Given the description of an element on the screen output the (x, y) to click on. 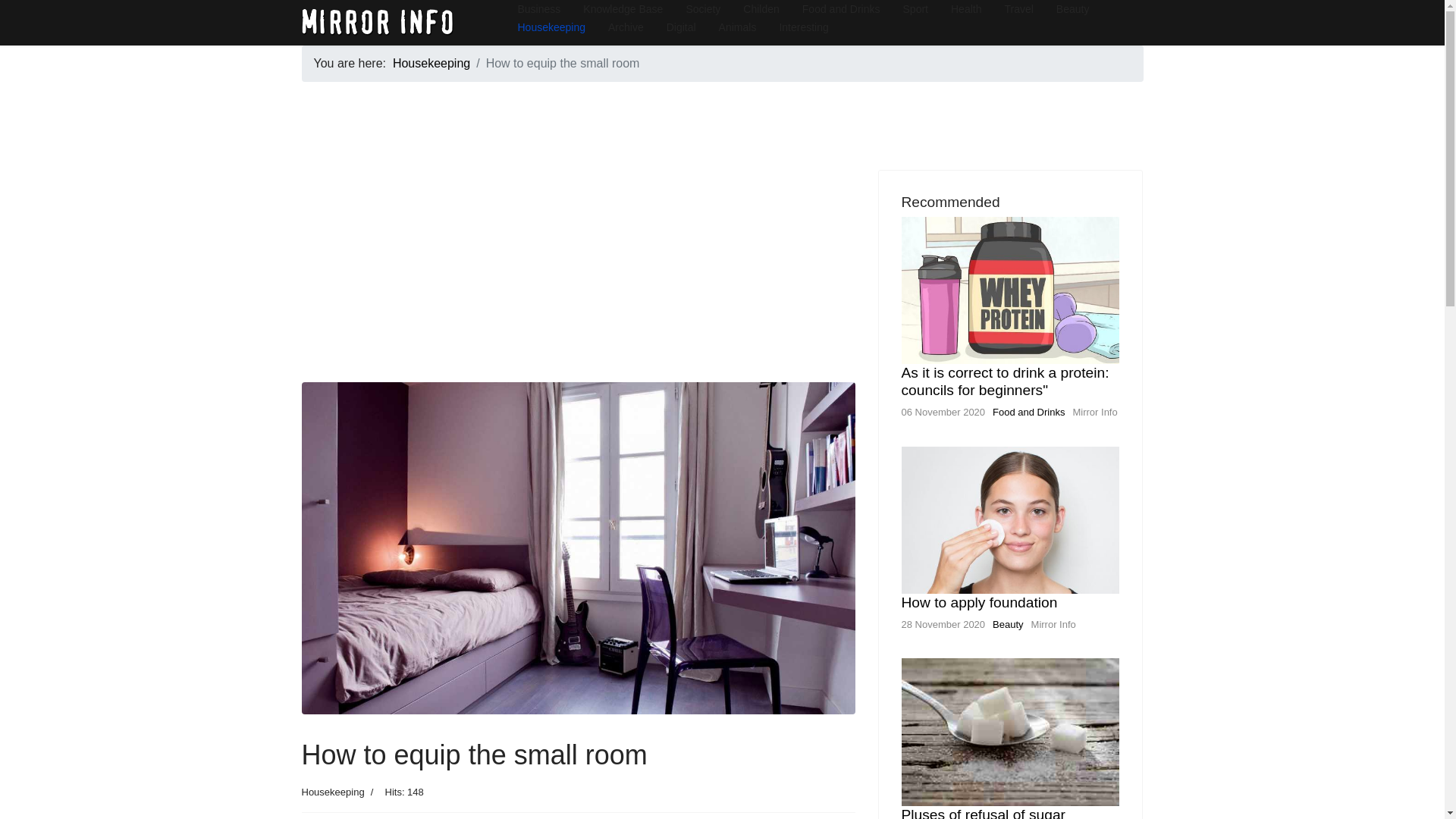
Category: Housekeeping (333, 792)
Housekeeping (333, 791)
As it is correct to drink a protein: councils for beginners" (1004, 381)
Food and Drinks (1028, 411)
Housekeeping (431, 62)
Beauty (1007, 624)
How to apply foundation (979, 602)
Advertisement (578, 275)
Pluses of refusal of sugar (983, 812)
